Given the description of an element on the screen output the (x, y) to click on. 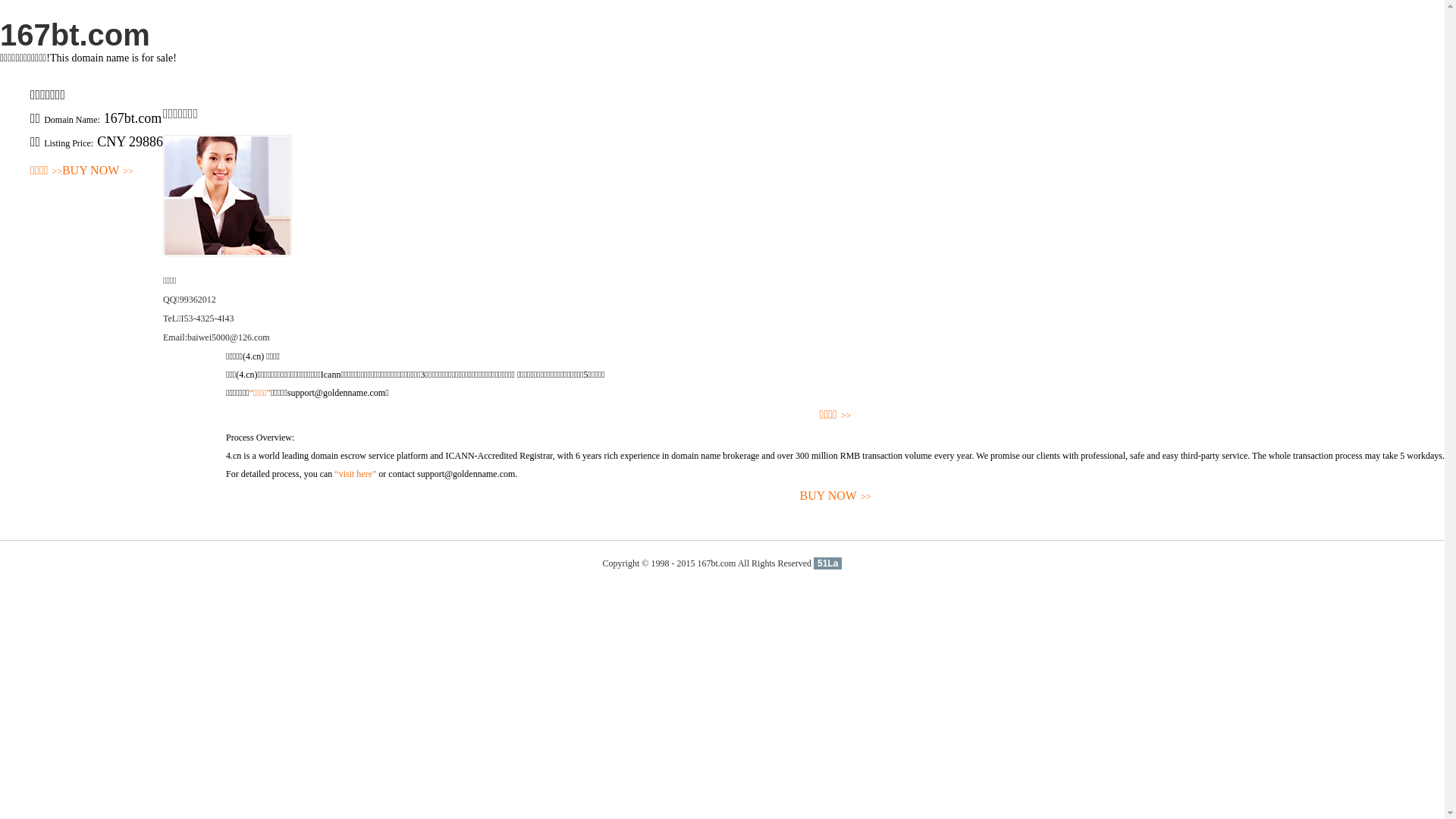
BUY NOW>> Element type: text (97, 170)
BUY NOW>> Element type: text (834, 496)
51La Element type: text (827, 563)
